Given the description of an element on the screen output the (x, y) to click on. 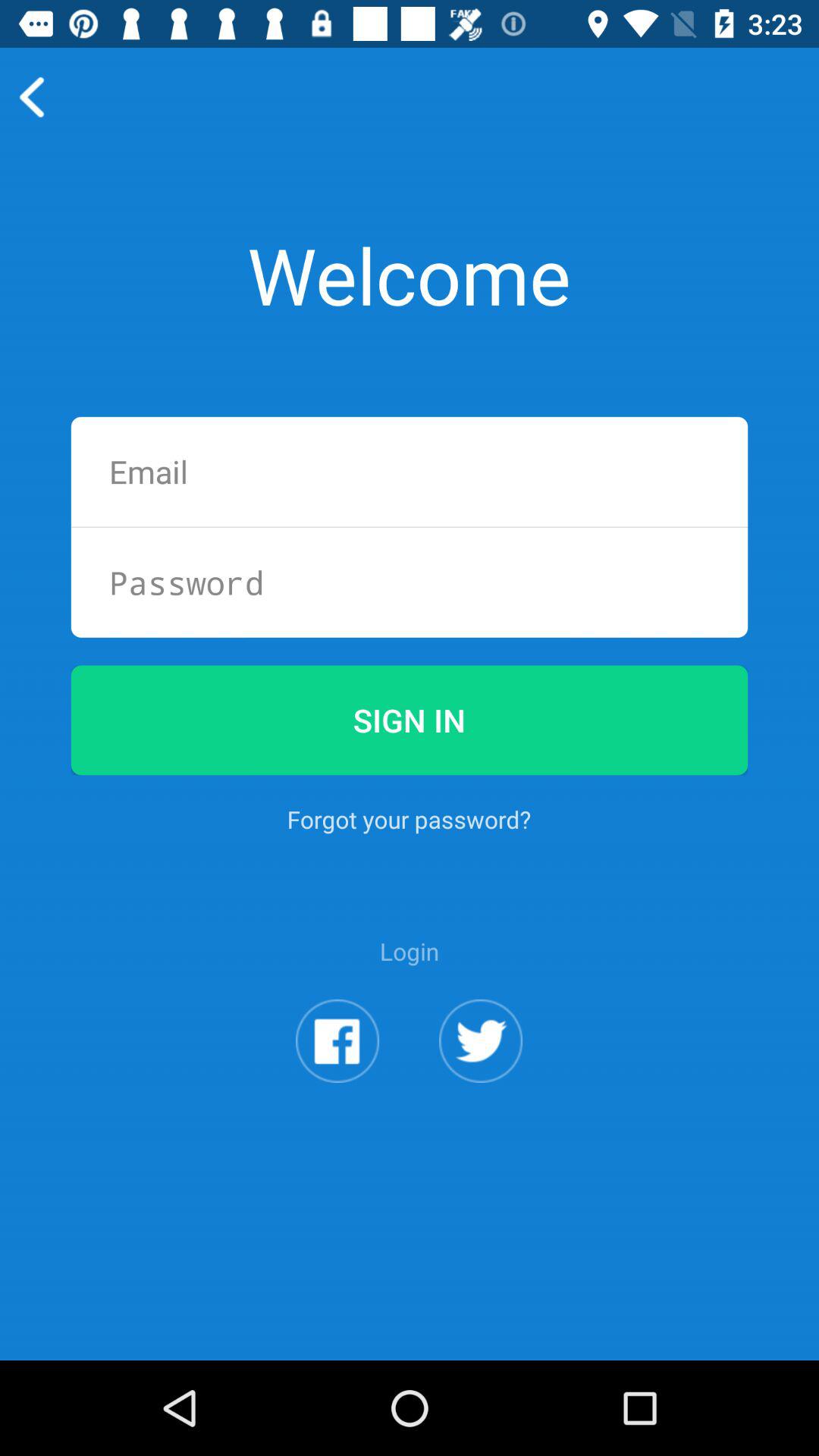
tap the app below the login (337, 1040)
